Given the description of an element on the screen output the (x, y) to click on. 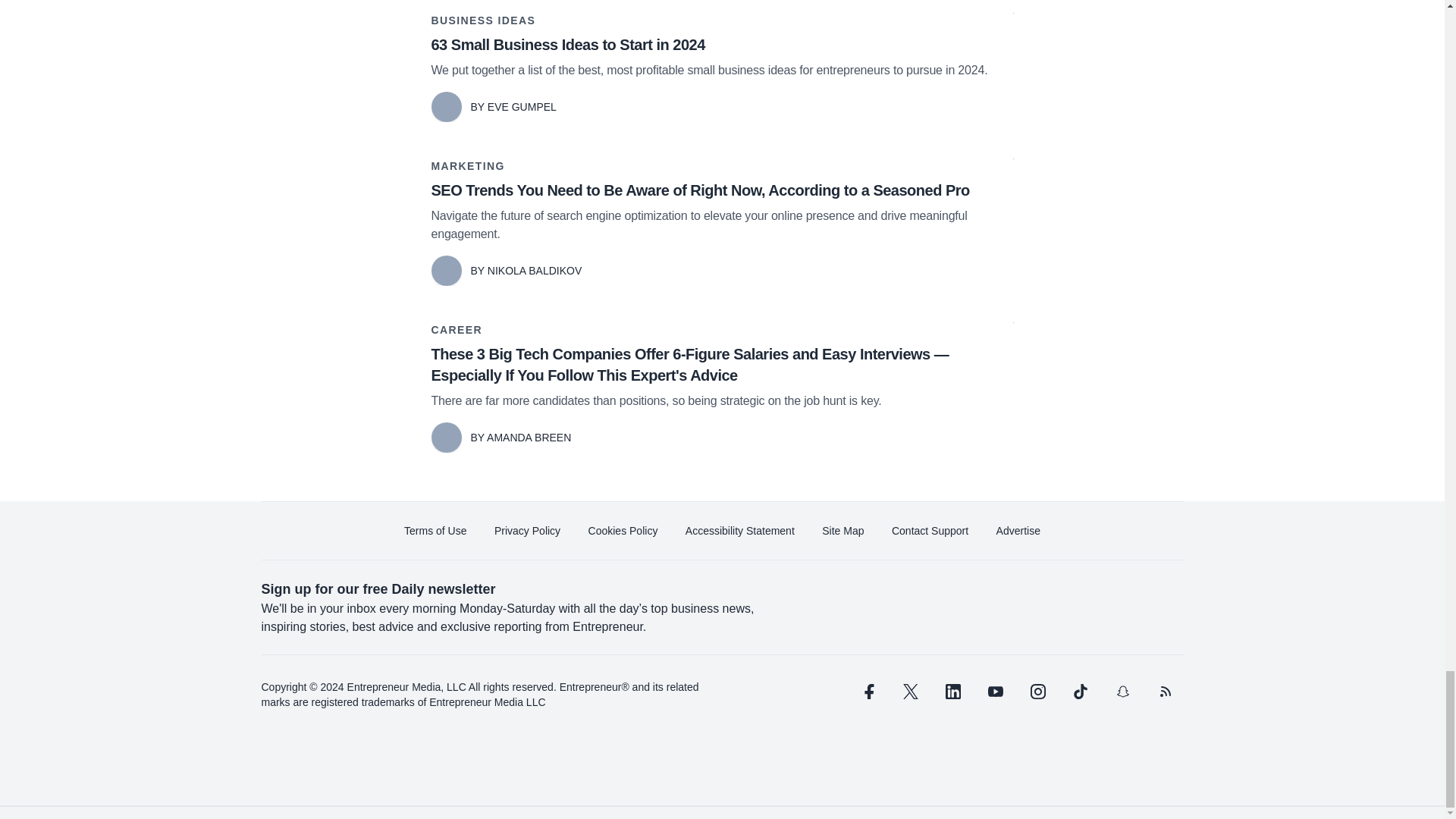
snapchat (1121, 691)
linkedin (952, 691)
twitter (909, 691)
youtube (994, 691)
facebook (866, 691)
instagram (1037, 691)
tiktok (1079, 691)
